Given the description of an element on the screen output the (x, y) to click on. 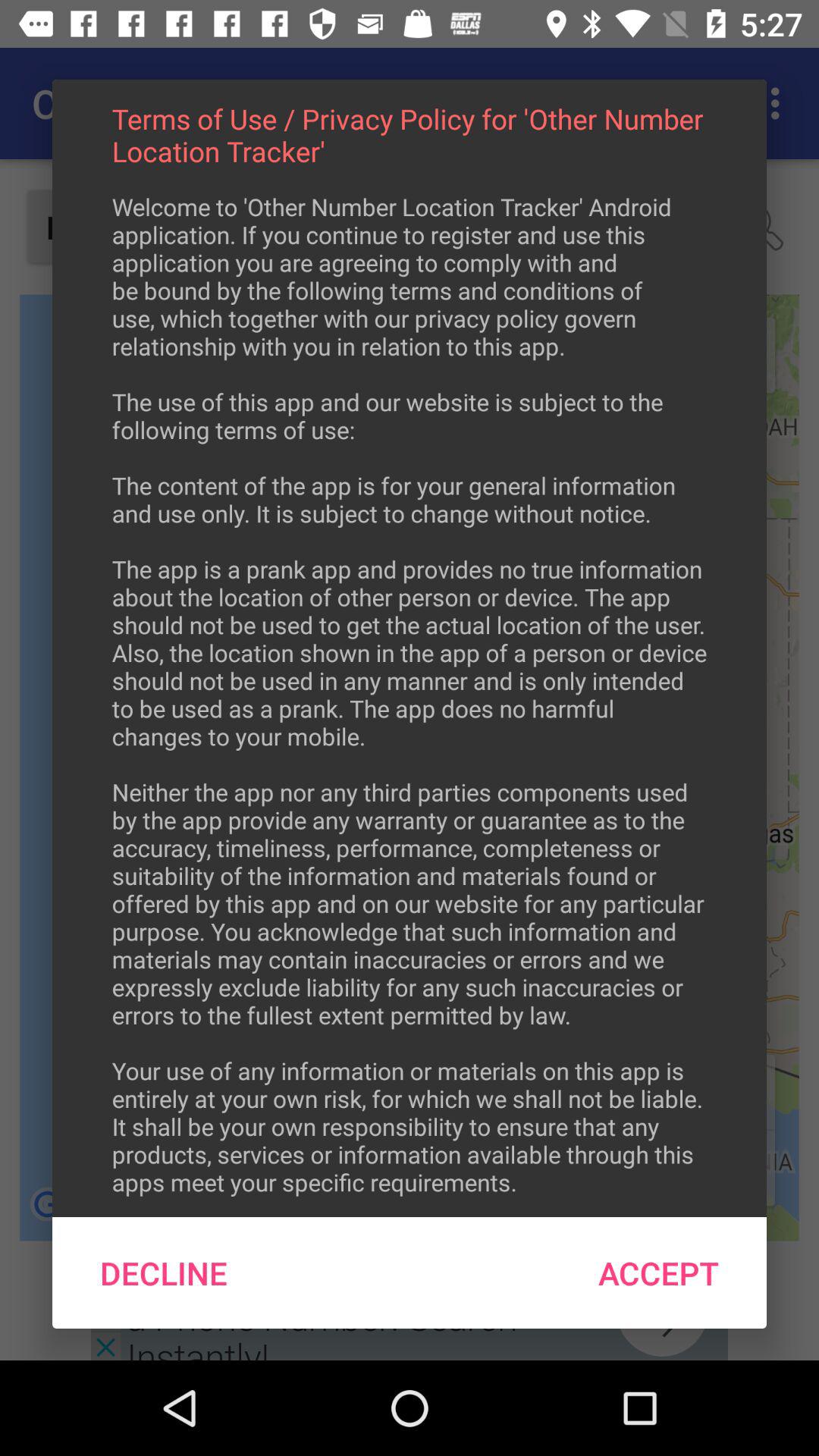
scroll until decline (163, 1272)
